Given the description of an element on the screen output the (x, y) to click on. 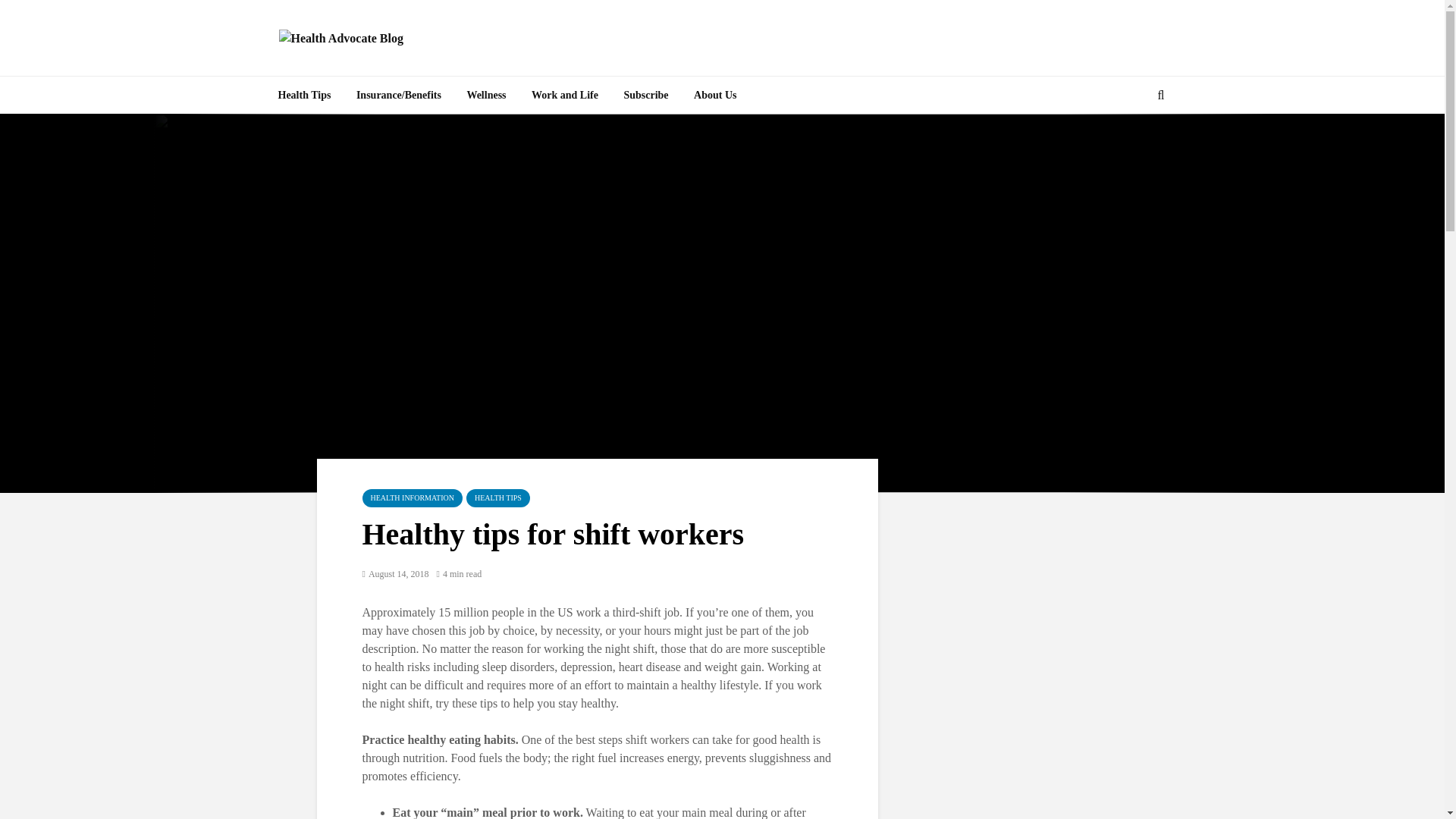
Wellness (485, 95)
Subscribe (645, 95)
Work and Life (564, 95)
Health Tips (304, 95)
About Us (715, 95)
